Given the description of an element on the screen output the (x, y) to click on. 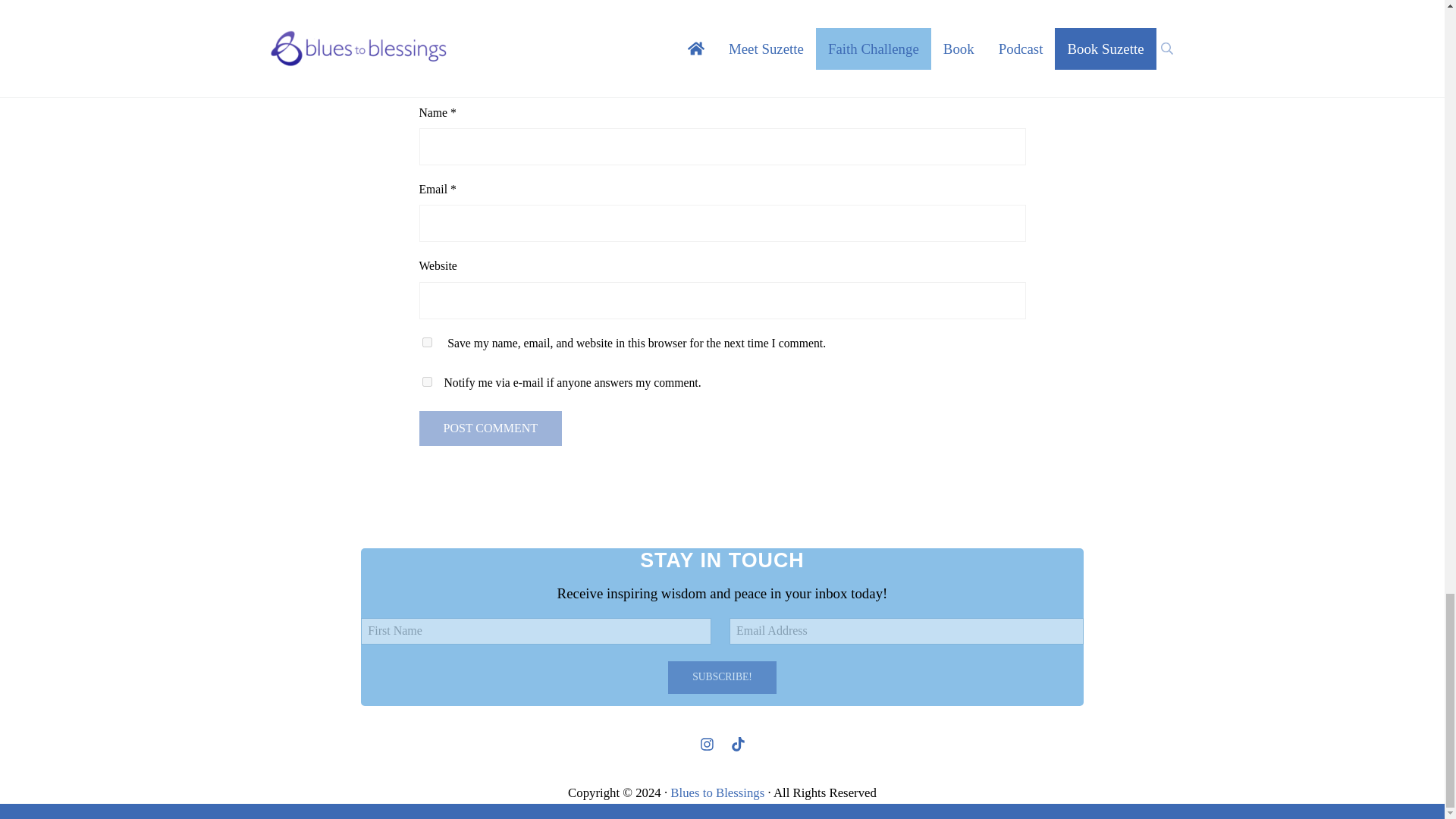
on (426, 381)
Post Comment (490, 428)
Follow Suzette on Instagram (706, 743)
yes (426, 342)
Blues to Blessings (716, 792)
Subscribe! (722, 677)
Post Comment (490, 428)
Subscribe! (722, 677)
